Given the description of an element on the screen output the (x, y) to click on. 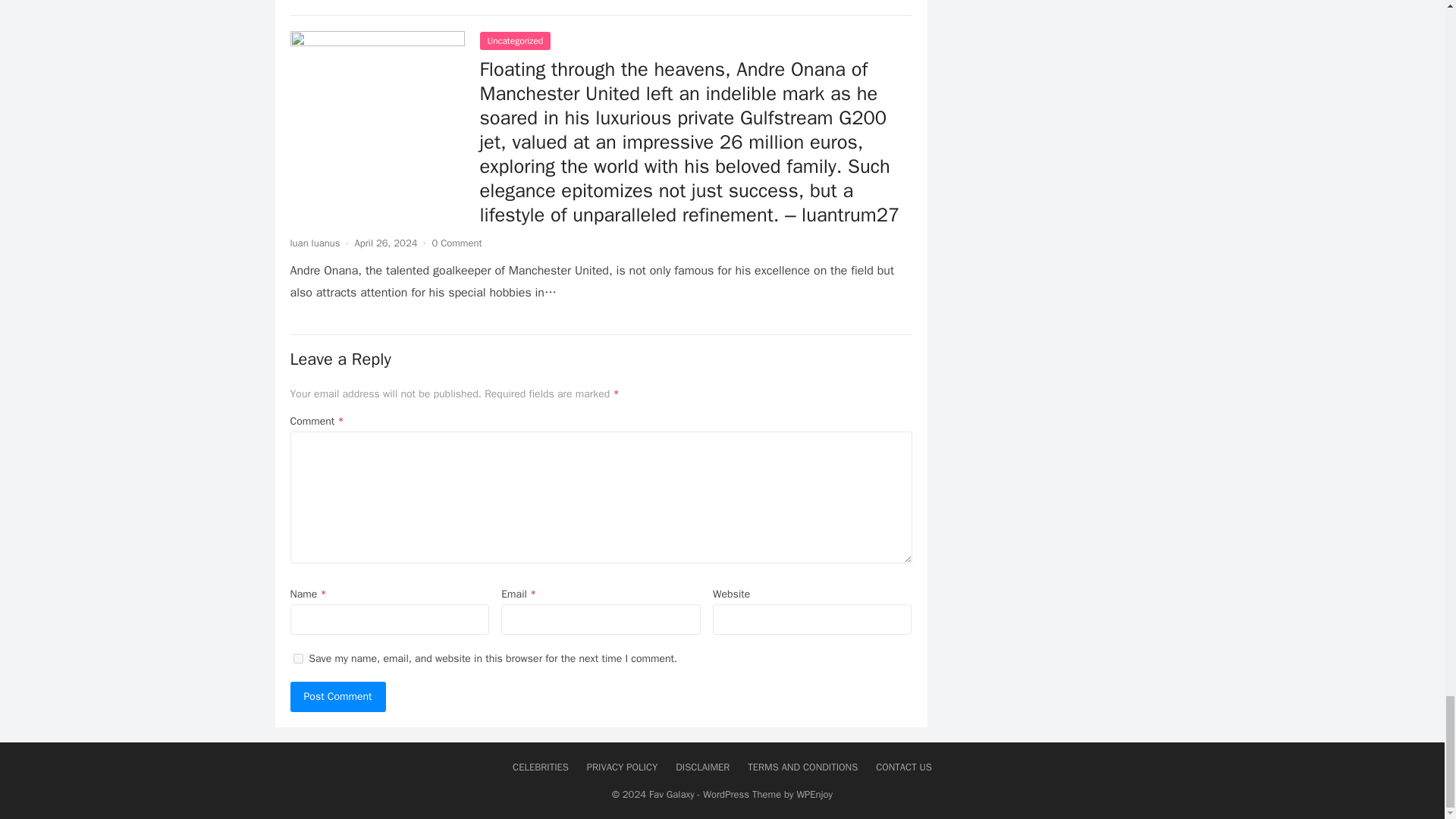
Posts by luan luanus (314, 242)
Post Comment (337, 696)
yes (297, 658)
